Given the description of an element on the screen output the (x, y) to click on. 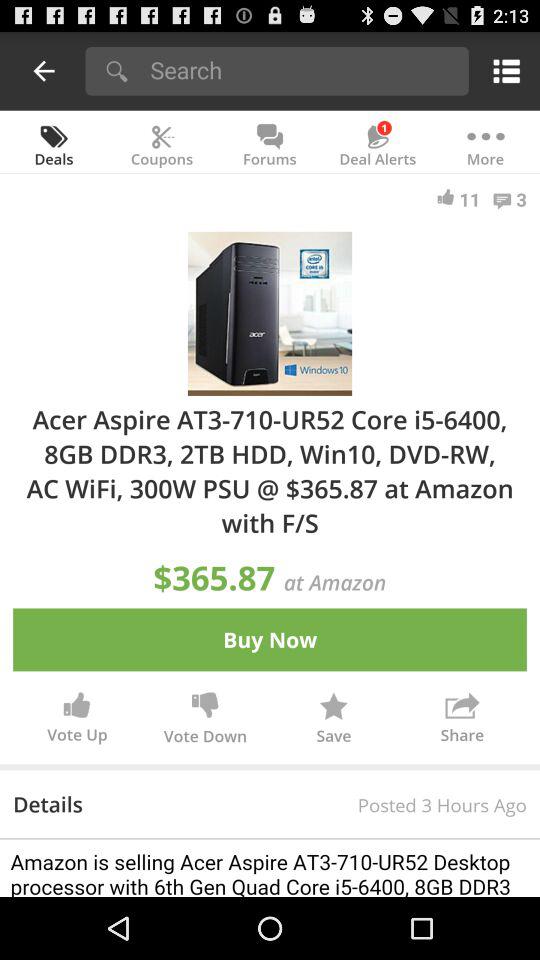
click the vote down button (205, 721)
